Given the description of an element on the screen output the (x, y) to click on. 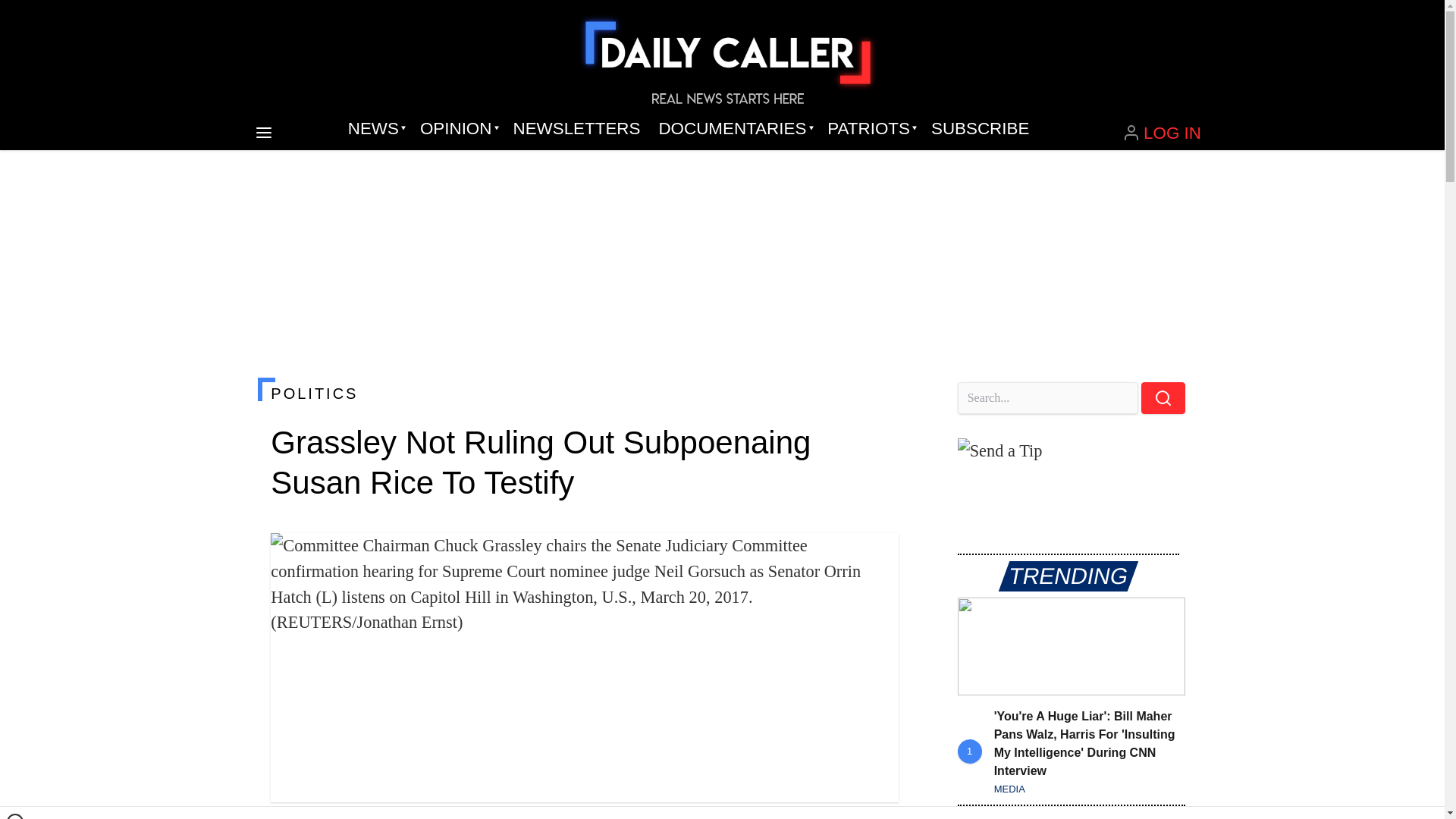
DOCUMENTARIES (733, 128)
PATRIOTS (869, 128)
OPINION (456, 128)
NEWSLETTERS (576, 128)
NEWS (374, 128)
POLITICS (584, 393)
SUBSCRIBE (979, 128)
Toggle fullscreen (874, 556)
Close window (14, 816)
